Given the description of an element on the screen output the (x, y) to click on. 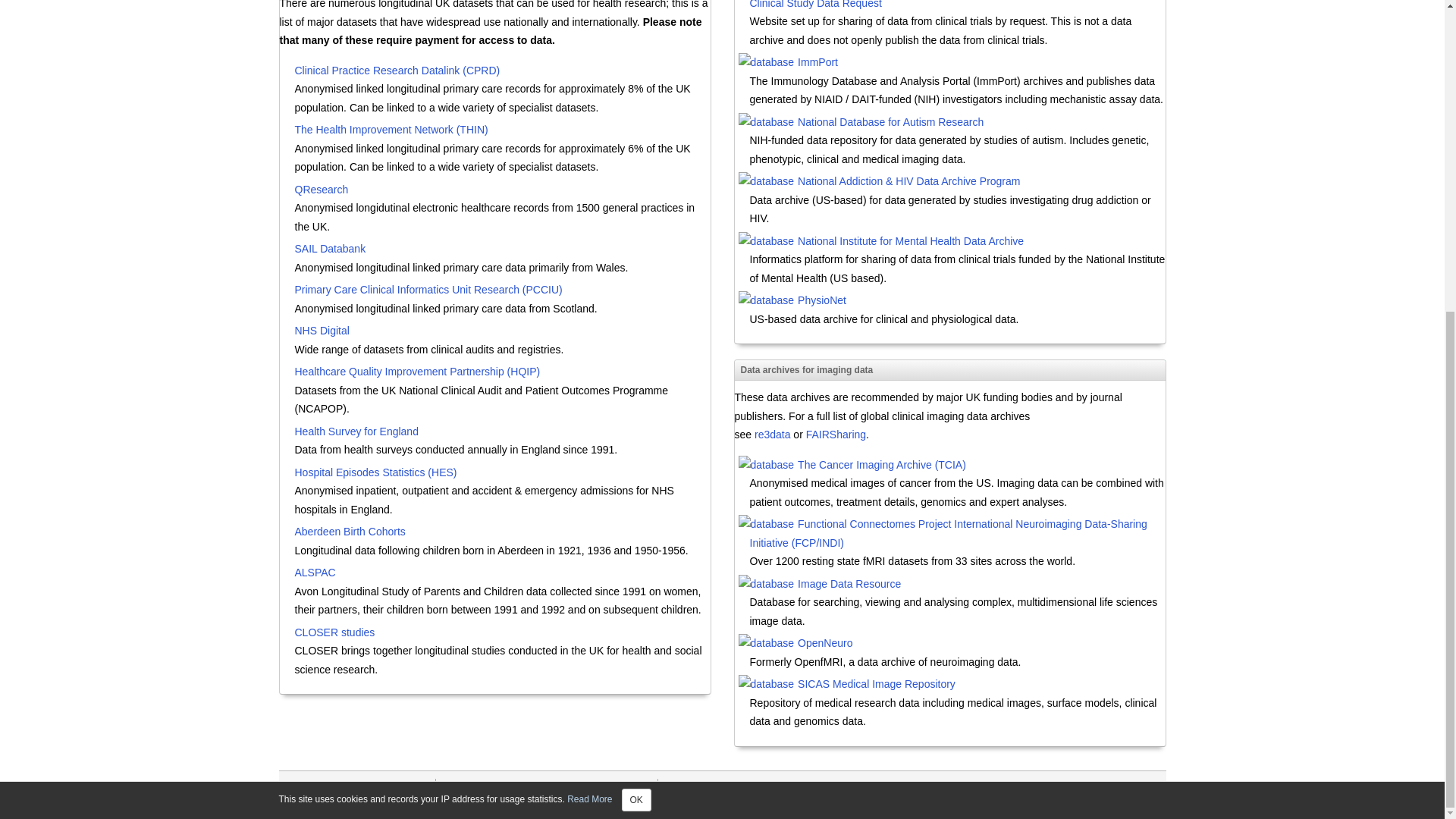
ALSPAC (502, 573)
Health Survey for England (502, 432)
NHS Digital (502, 331)
QResearch (502, 191)
OK (635, 303)
Aberdeen Birth Cohorts (502, 532)
Read More (589, 303)
SAIL Databank (502, 249)
CLOSER studies (502, 633)
Clinical Study Data Request (956, 6)
